Given the description of an element on the screen output the (x, y) to click on. 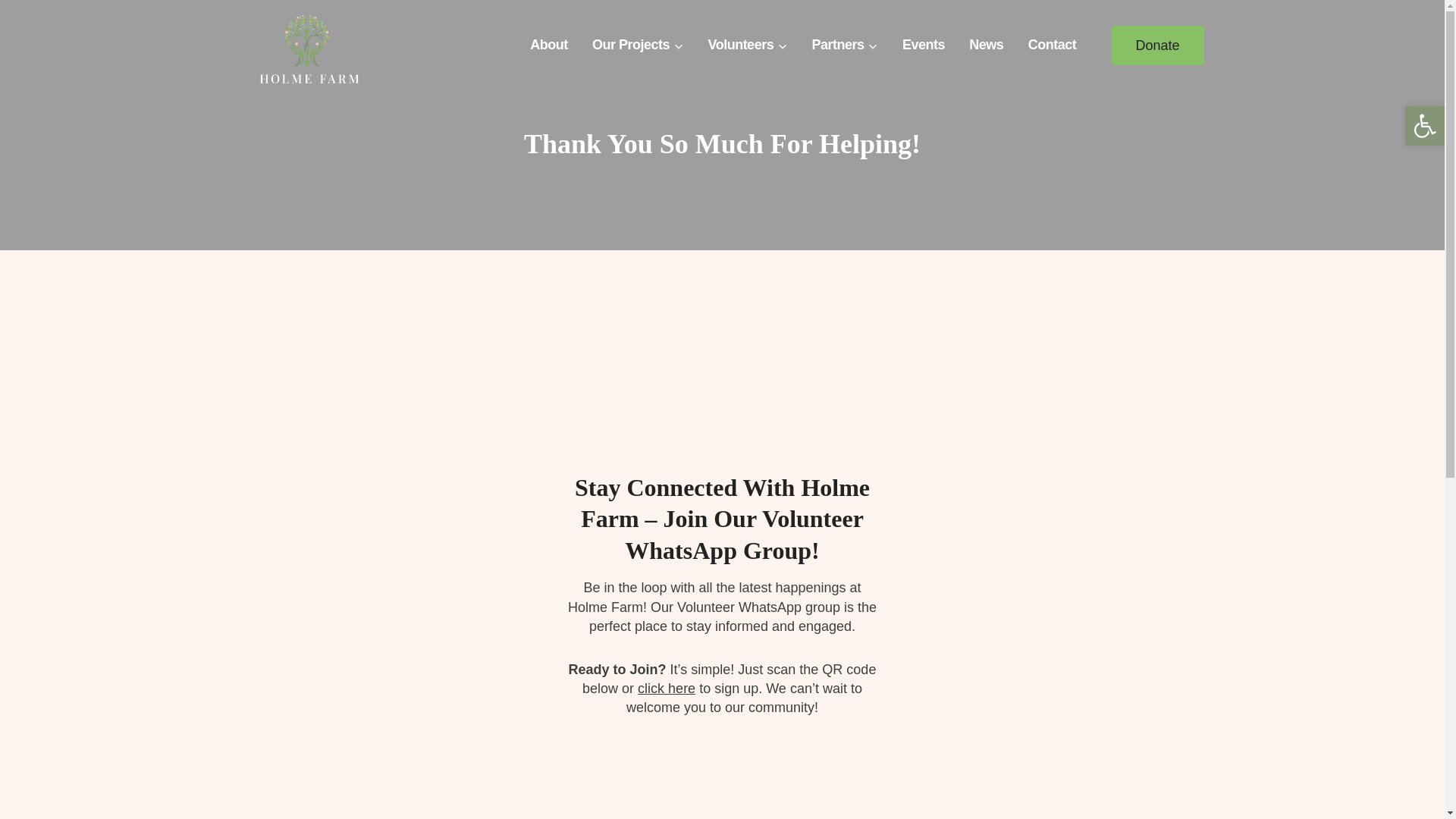
Donate (1157, 45)
Contact (1052, 45)
Volunteers (747, 45)
Partners (844, 45)
News (985, 45)
Our Projects (637, 45)
Events (922, 45)
Accessibility Tools (1424, 125)
click here (666, 688)
About (548, 45)
